Given the description of an element on the screen output the (x, y) to click on. 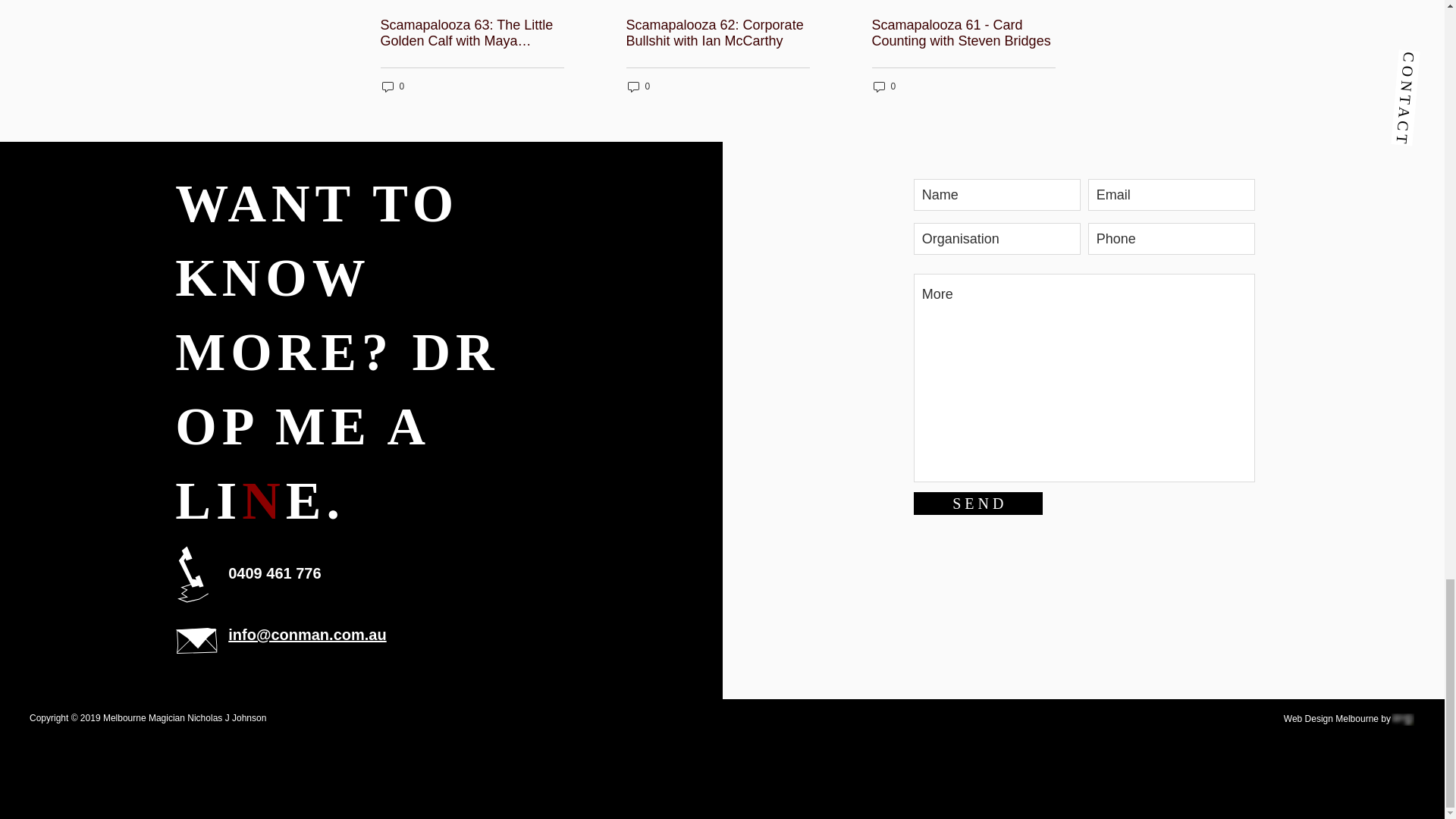
Web Design Melbourne (1331, 718)
S E N D (978, 503)
Scamapalooza 61 - Card Counting with Steven Bridges (963, 33)
0 (639, 86)
Scamapalooza 63: The Little Golden Calf with Maya Vinokour (472, 33)
0 (885, 86)
0409 461 776  (276, 573)
0 (393, 86)
Scamapalooza 62: Corporate Bullshit with Ian McCarthy (717, 33)
